Given the description of an element on the screen output the (x, y) to click on. 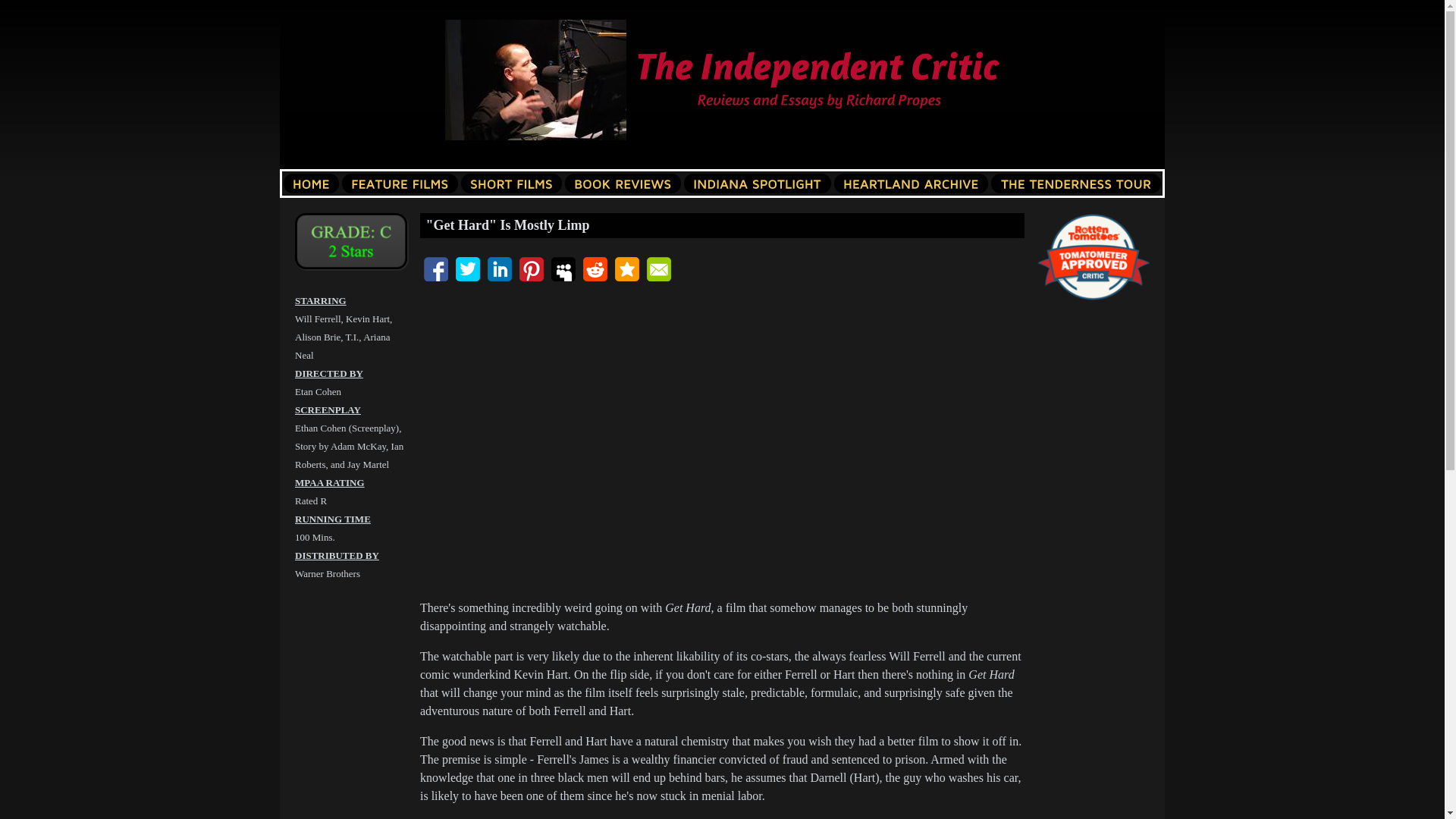
Twitter (467, 269)
Facebook (435, 269)
LinkedIn (499, 269)
